Given the description of an element on the screen output the (x, y) to click on. 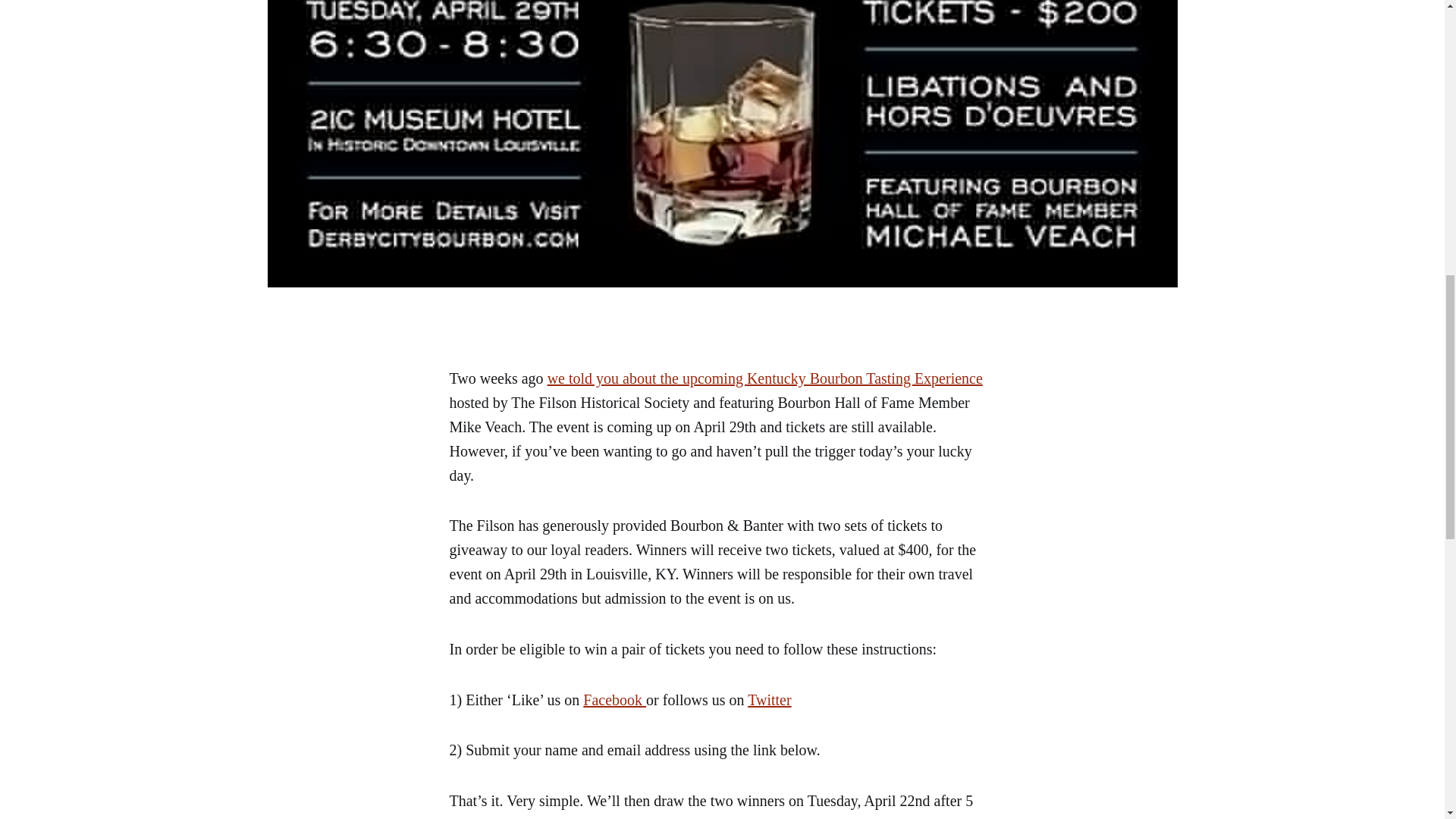
Twitter (769, 699)
Facebook (614, 699)
